Given the description of an element on the screen output the (x, y) to click on. 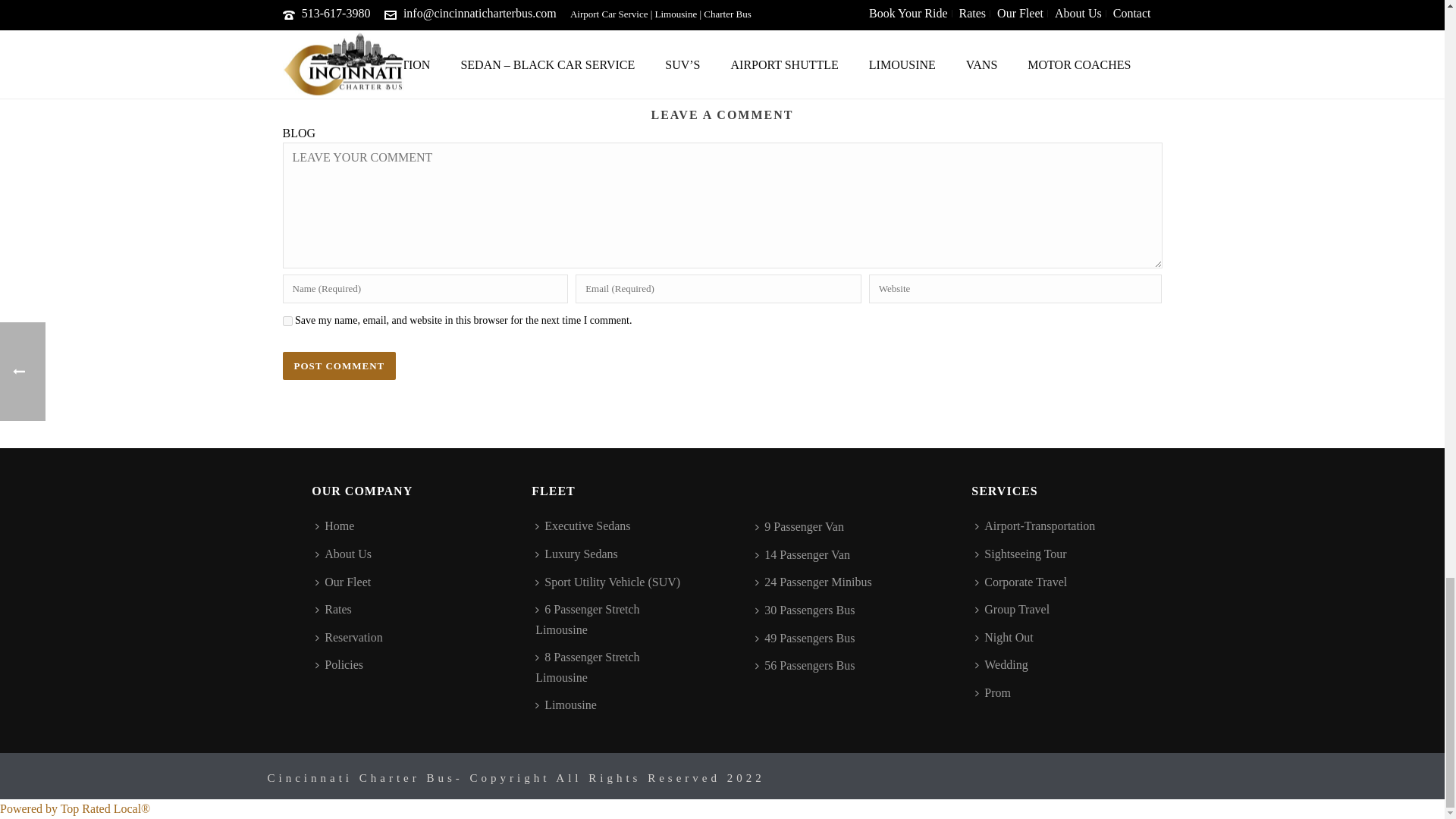
yes (287, 320)
POST COMMENT (339, 366)
